Given the description of an element on the screen output the (x, y) to click on. 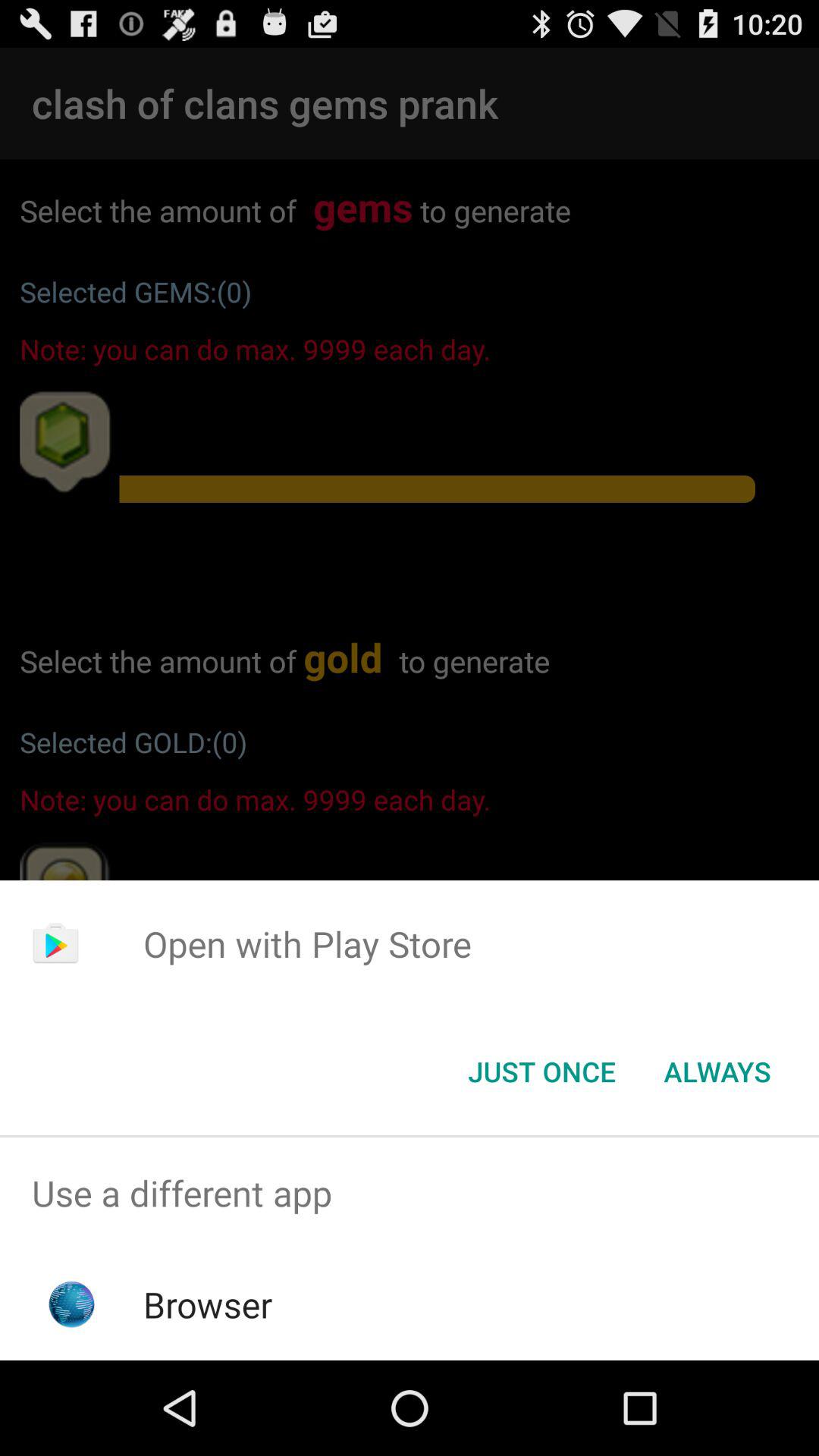
choose the use a different app (409, 1192)
